Given the description of an element on the screen output the (x, y) to click on. 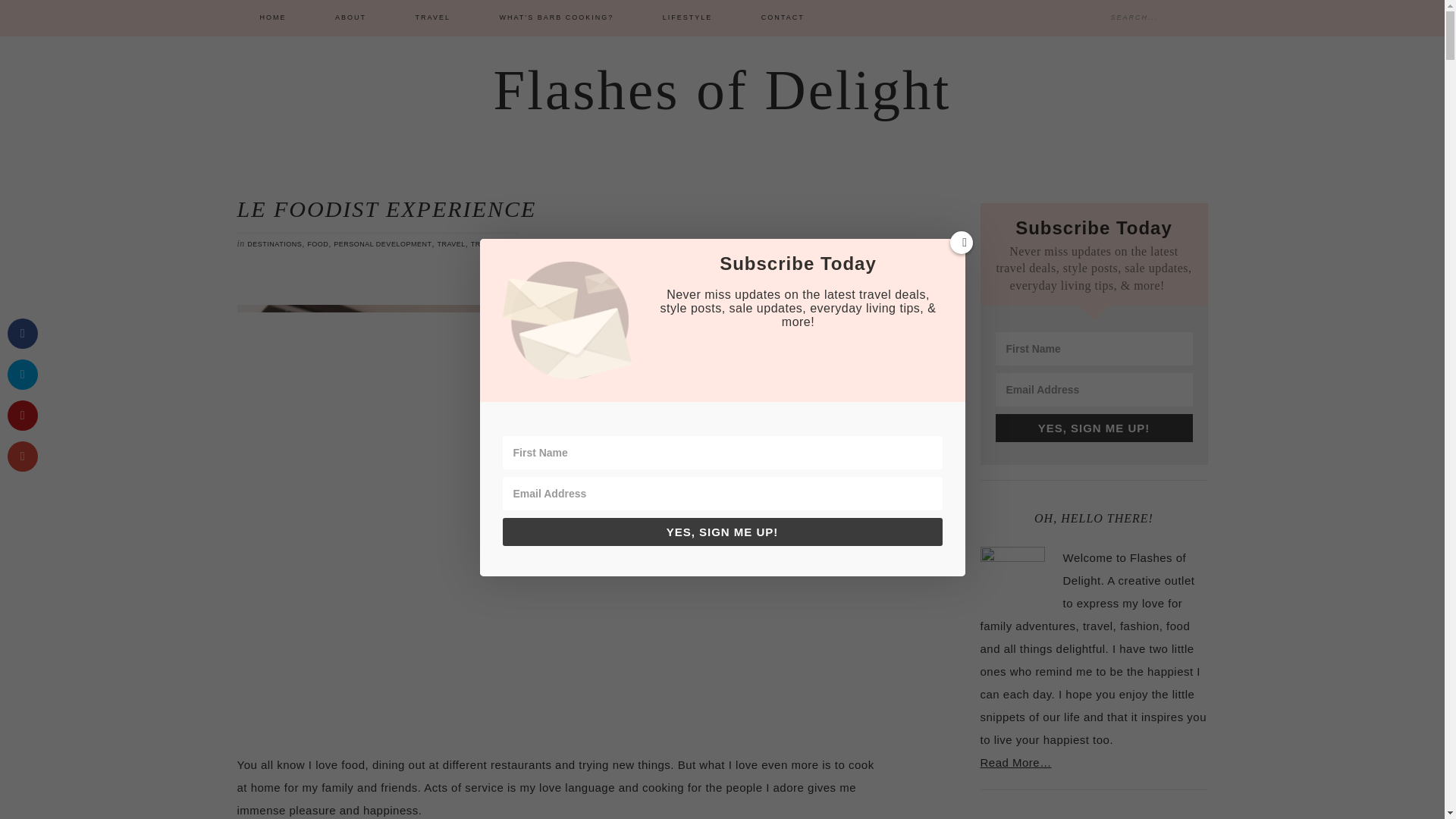
HOME (271, 18)
PERSONAL DEVELOPMENT (381, 243)
DESTINATIONS (274, 243)
CONTACT (782, 18)
FOOD (318, 243)
TRAVEL TIPS (494, 243)
YES, SIGN ME UP! (1093, 428)
Flashes of Delight (722, 89)
TRAVEL (433, 18)
LIFESTYLE (687, 18)
ABOUT (350, 18)
TRAVEL (450, 243)
